Given the description of an element on the screen output the (x, y) to click on. 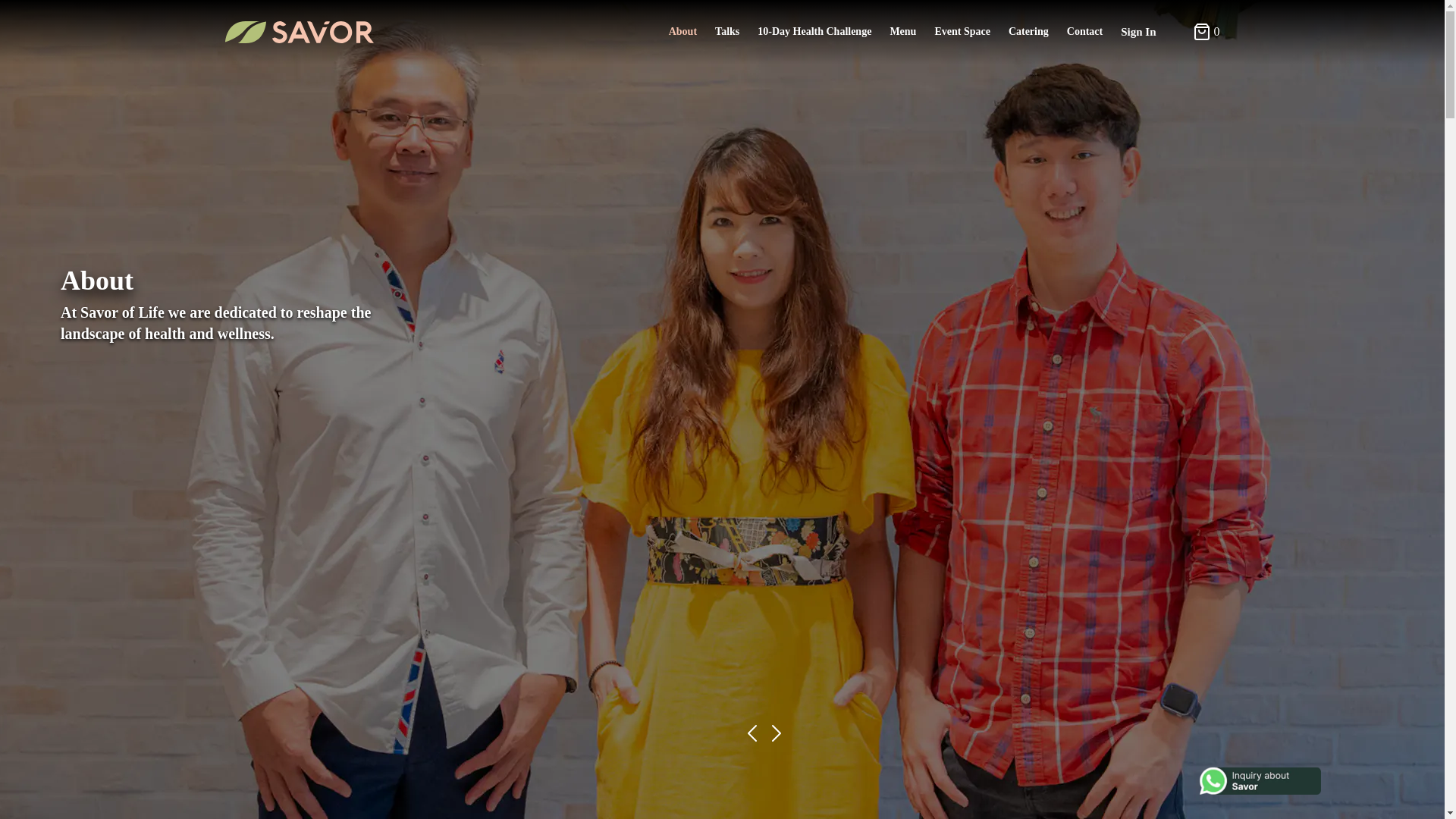
10-Day Health Challenge (813, 31)
Event Space (962, 31)
Menu (902, 31)
About (682, 31)
Talks (726, 31)
Catering (1028, 31)
Contact (1084, 31)
